Given the description of an element on the screen output the (x, y) to click on. 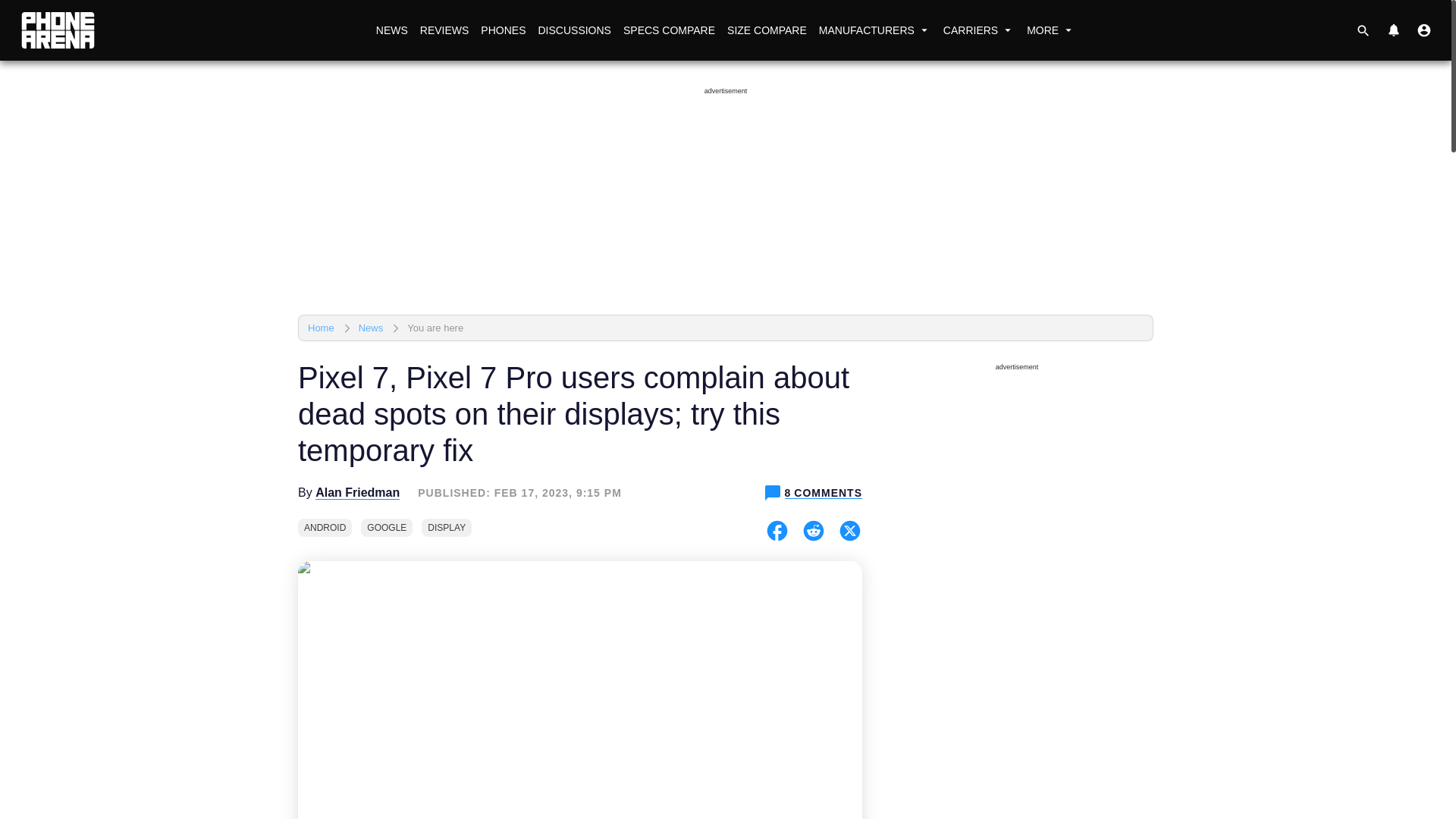
MANUFACTURERS (874, 30)
SPECS COMPARE (668, 30)
SIZE COMPARE (766, 30)
NEWS (391, 30)
MORE (1050, 30)
PHONES (502, 30)
CARRIERS (978, 30)
DISCUSSIONS (573, 30)
REVIEWS (444, 30)
